Given the description of an element on the screen output the (x, y) to click on. 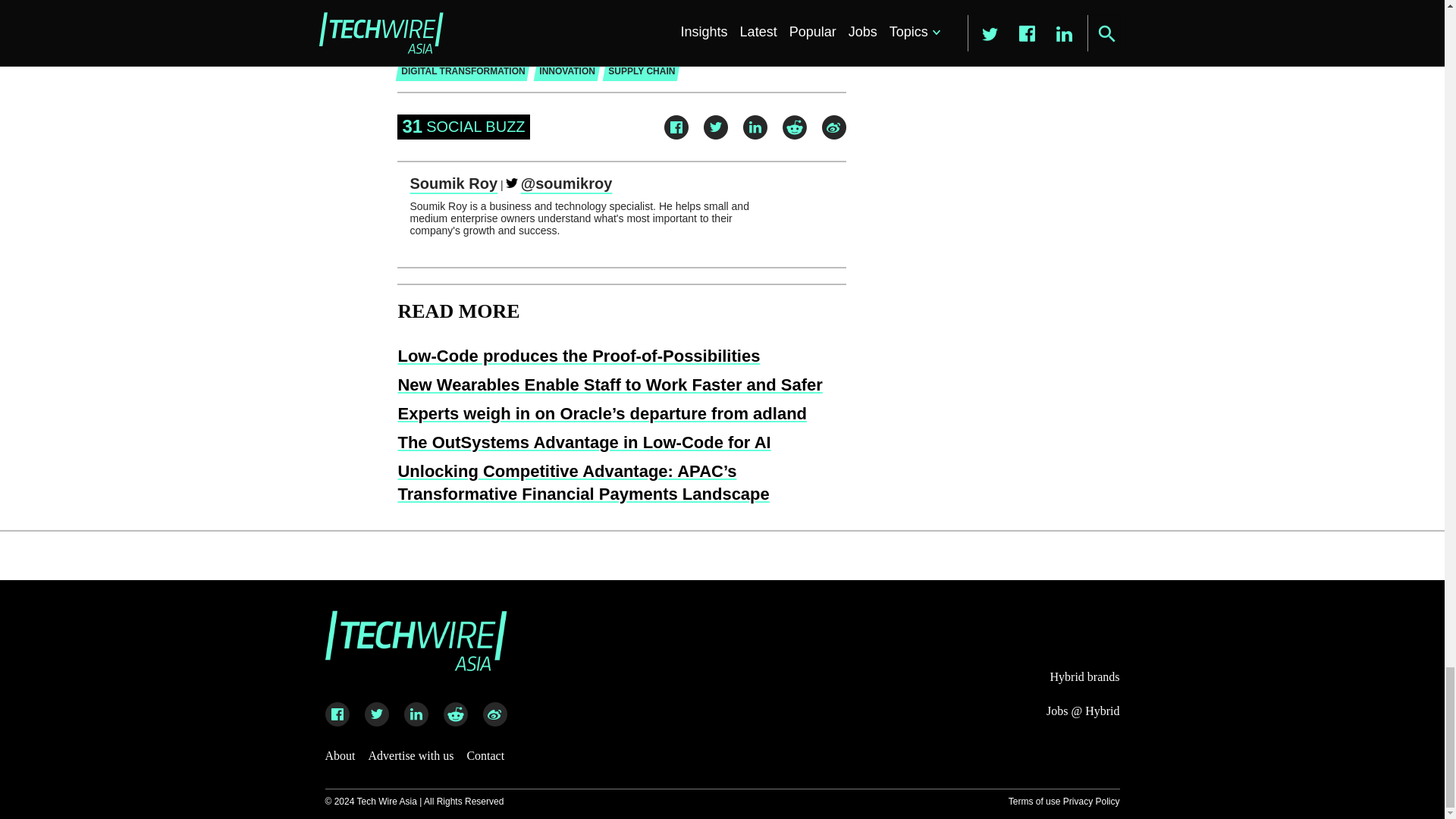
Posts by Soumik Roy (453, 183)
